Given the description of an element on the screen output the (x, y) to click on. 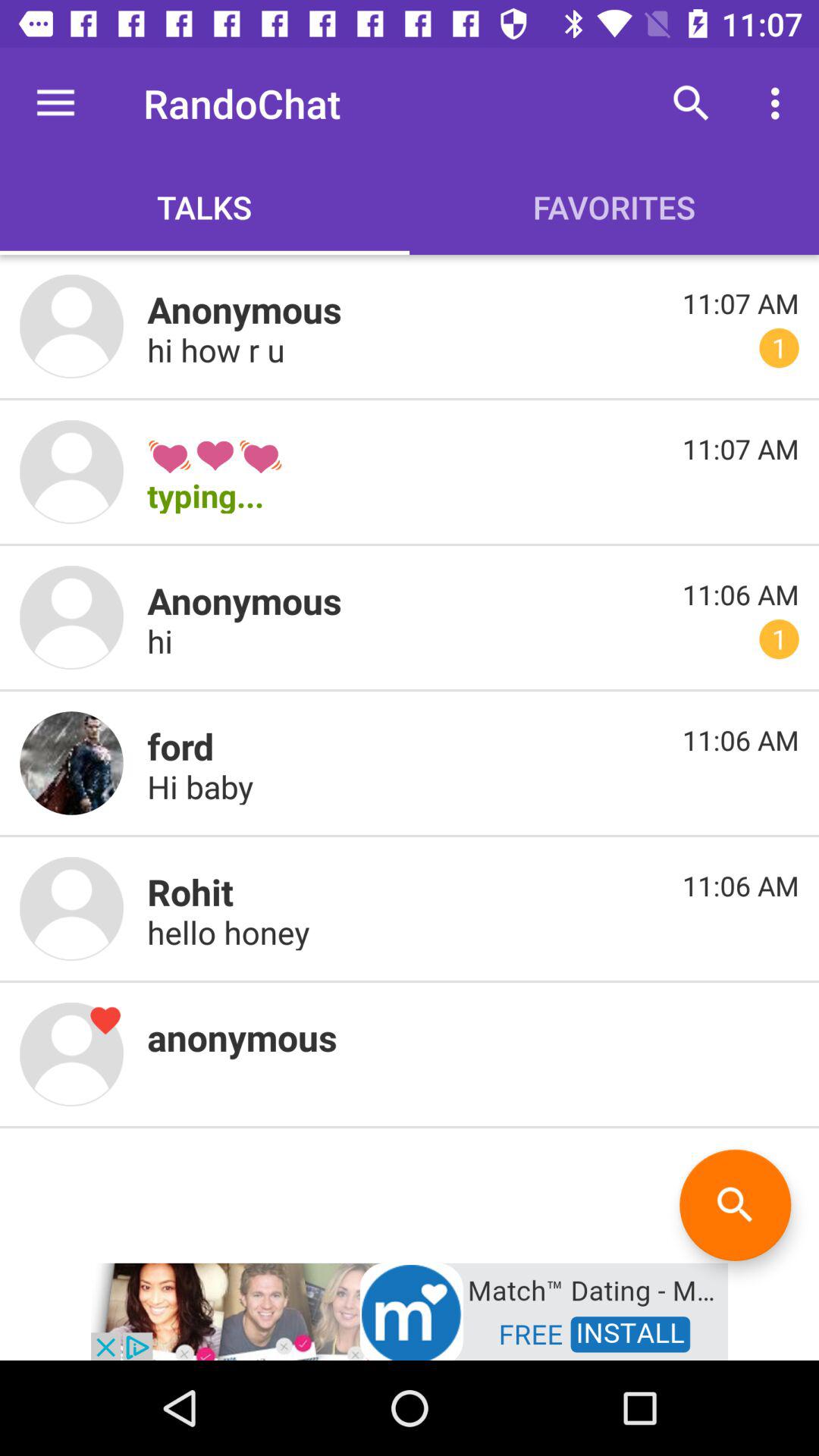
see user info (71, 617)
